Given the description of an element on the screen output the (x, y) to click on. 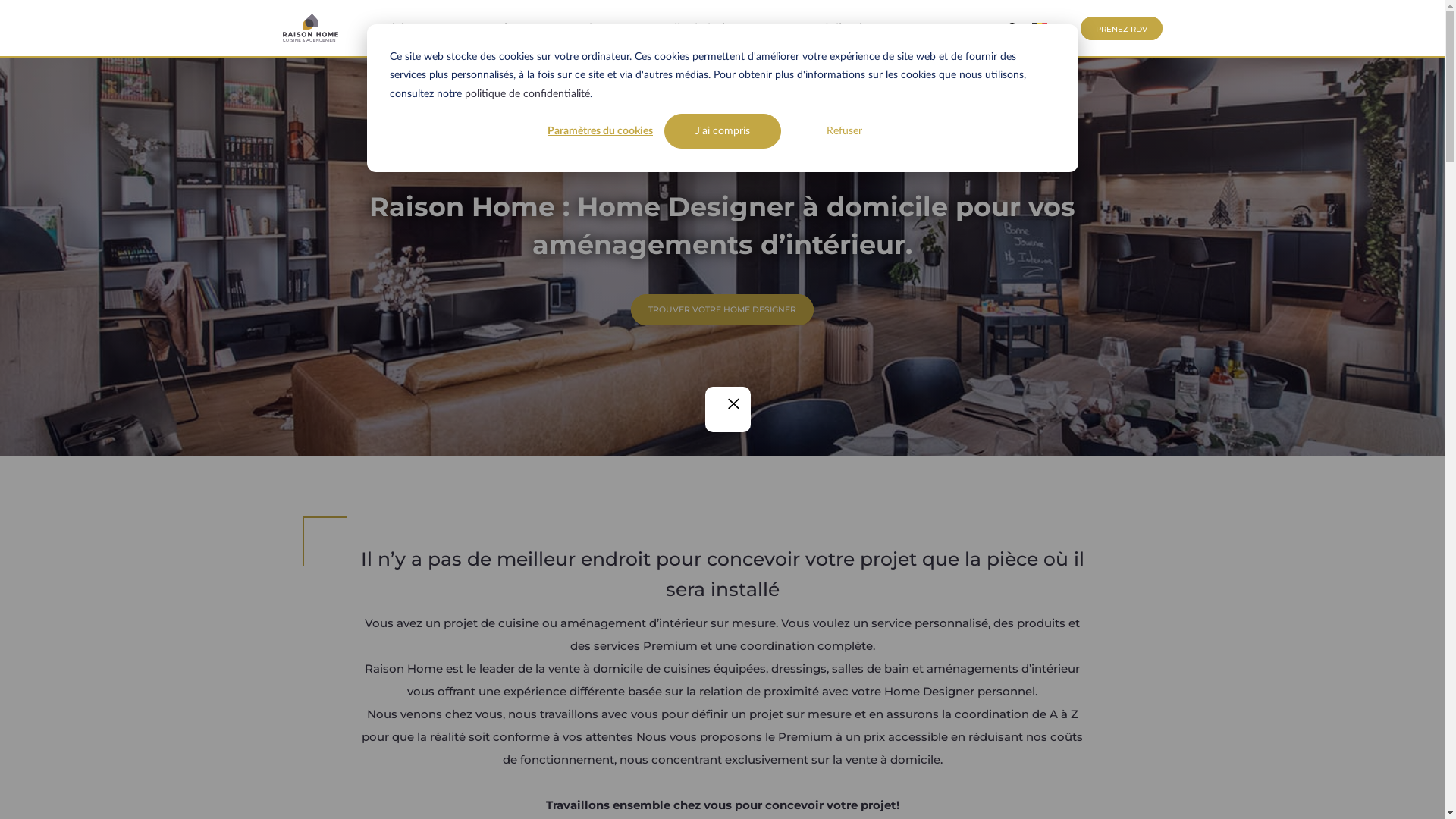
J'ai compris Element type: text (722, 130)
Refuser Element type: text (843, 130)
Raison Home Element type: hover (309, 27)
TROUVER VOTRE HOME DESIGNER Element type: text (721, 309)
PRENEZ RDV Element type: text (1120, 27)
Salle de bains Element type: text (699, 28)
